Given the description of an element on the screen output the (x, y) to click on. 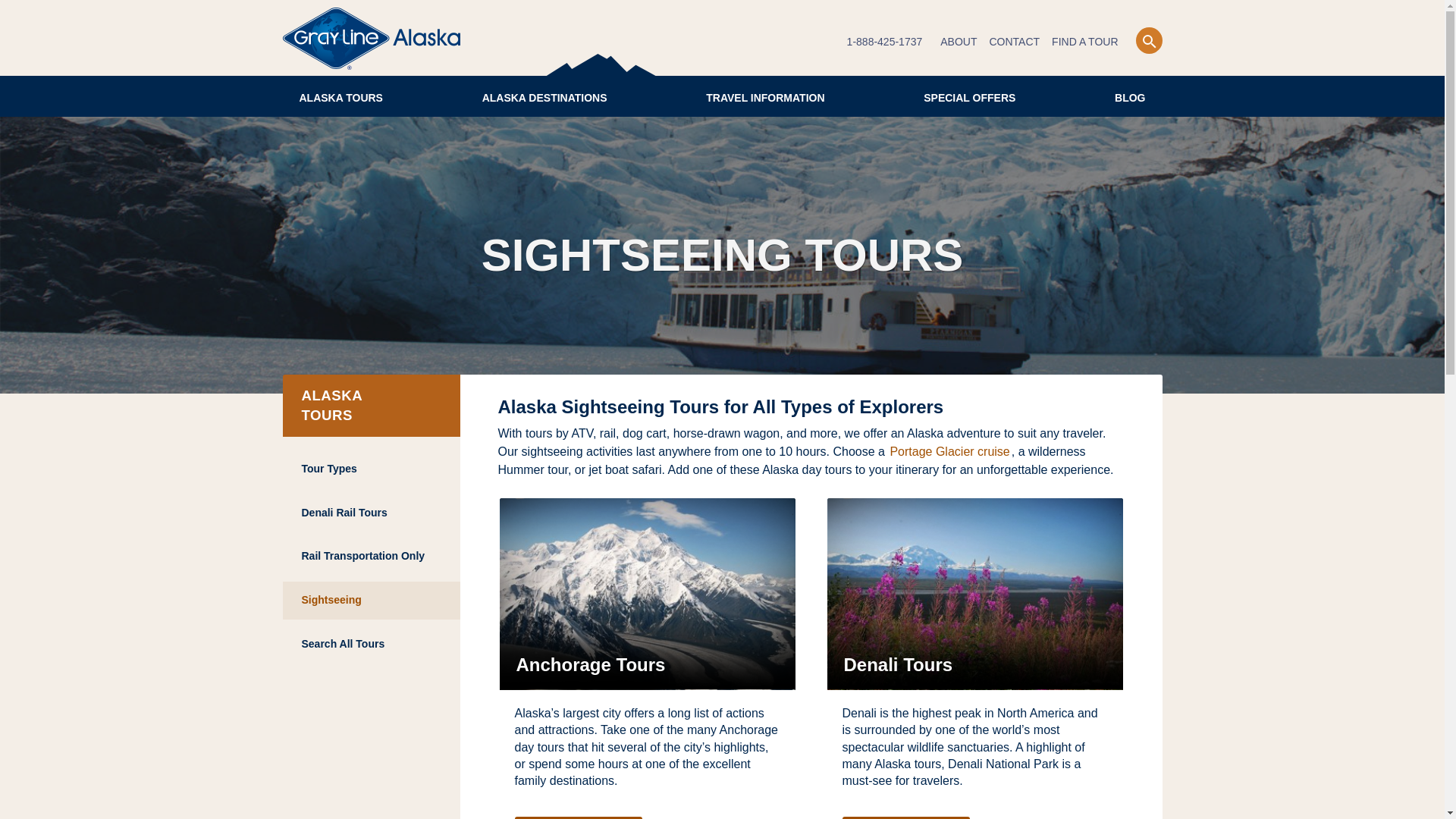
Search All Tours (371, 644)
1-888-425-1737 (885, 42)
Rail Transportation Only (371, 556)
ALASKA DESTINATIONS (544, 96)
CONTACT (1013, 42)
Denali Rail Tours (371, 513)
Tour Types (371, 469)
Sightseeing (371, 600)
Portage Glacier cruise (949, 451)
SPECIAL OFFERS (969, 96)
FIND A TOUR (1084, 42)
ALASKA TOURS (340, 96)
Gray Line Alaska (371, 38)
ABOUT (958, 42)
BLOG (1129, 96)
